Given the description of an element on the screen output the (x, y) to click on. 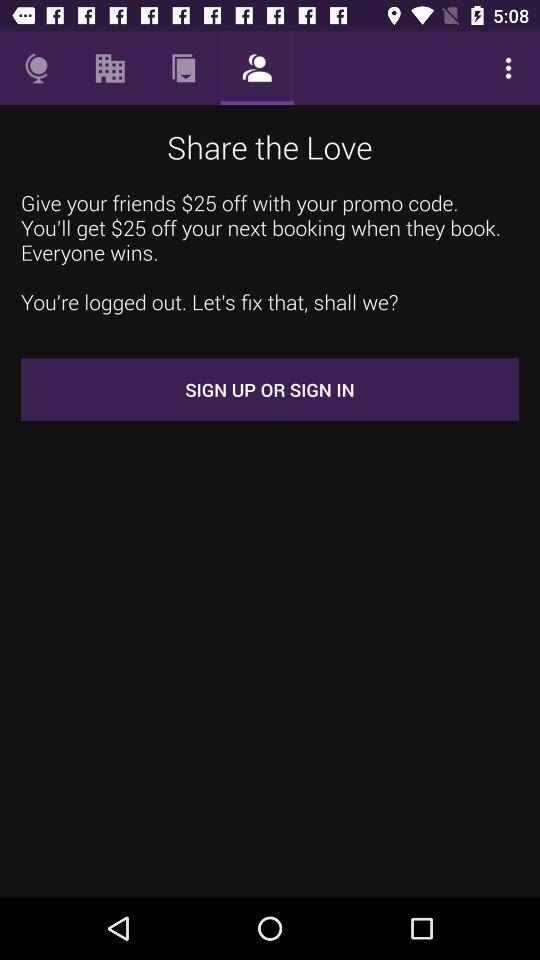
flip to sign up or item (270, 389)
